Given the description of an element on the screen output the (x, y) to click on. 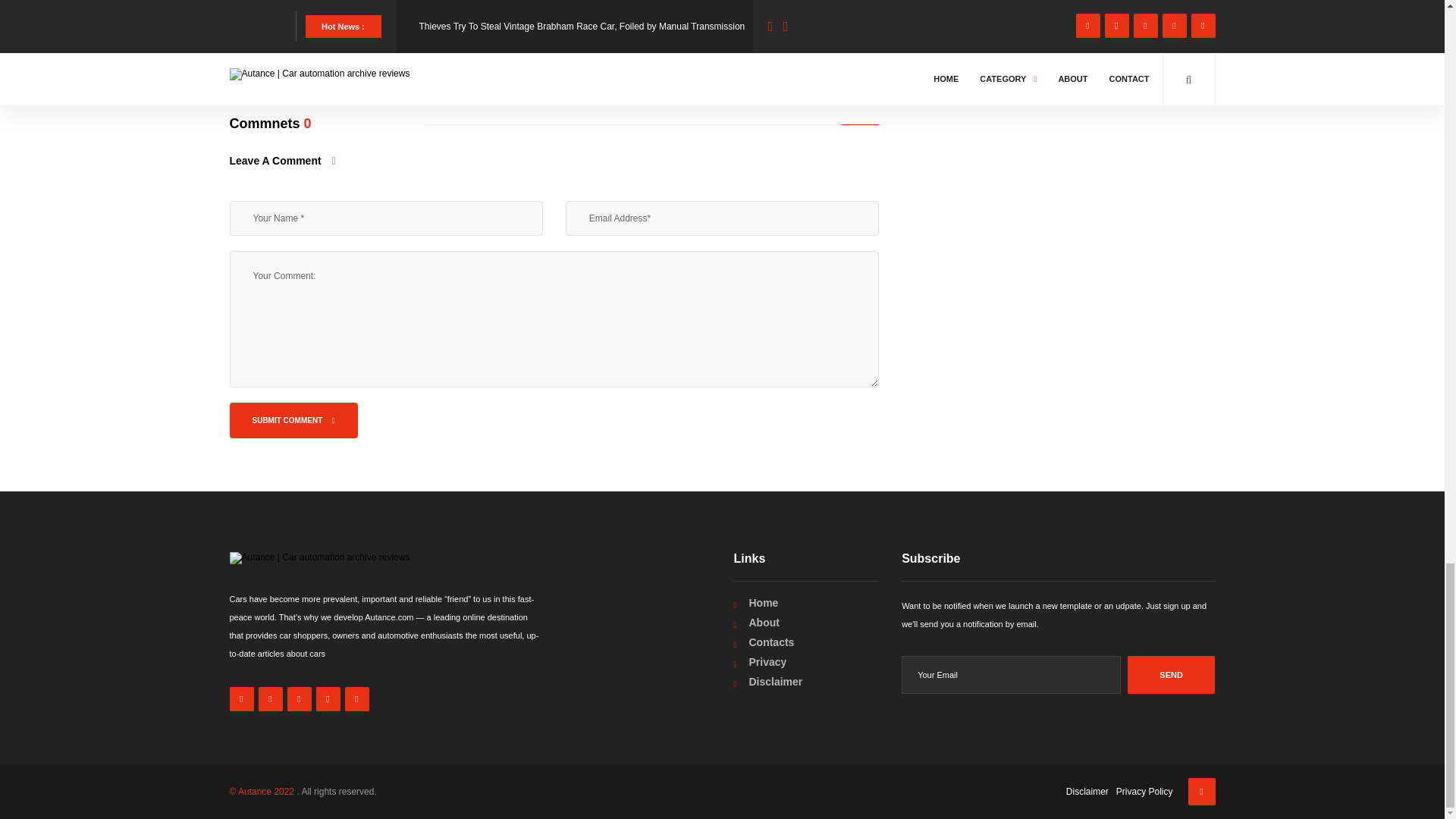
SUBMIT COMMENT (292, 420)
VIEW PROFILE (289, 50)
